Given the description of an element on the screen output the (x, y) to click on. 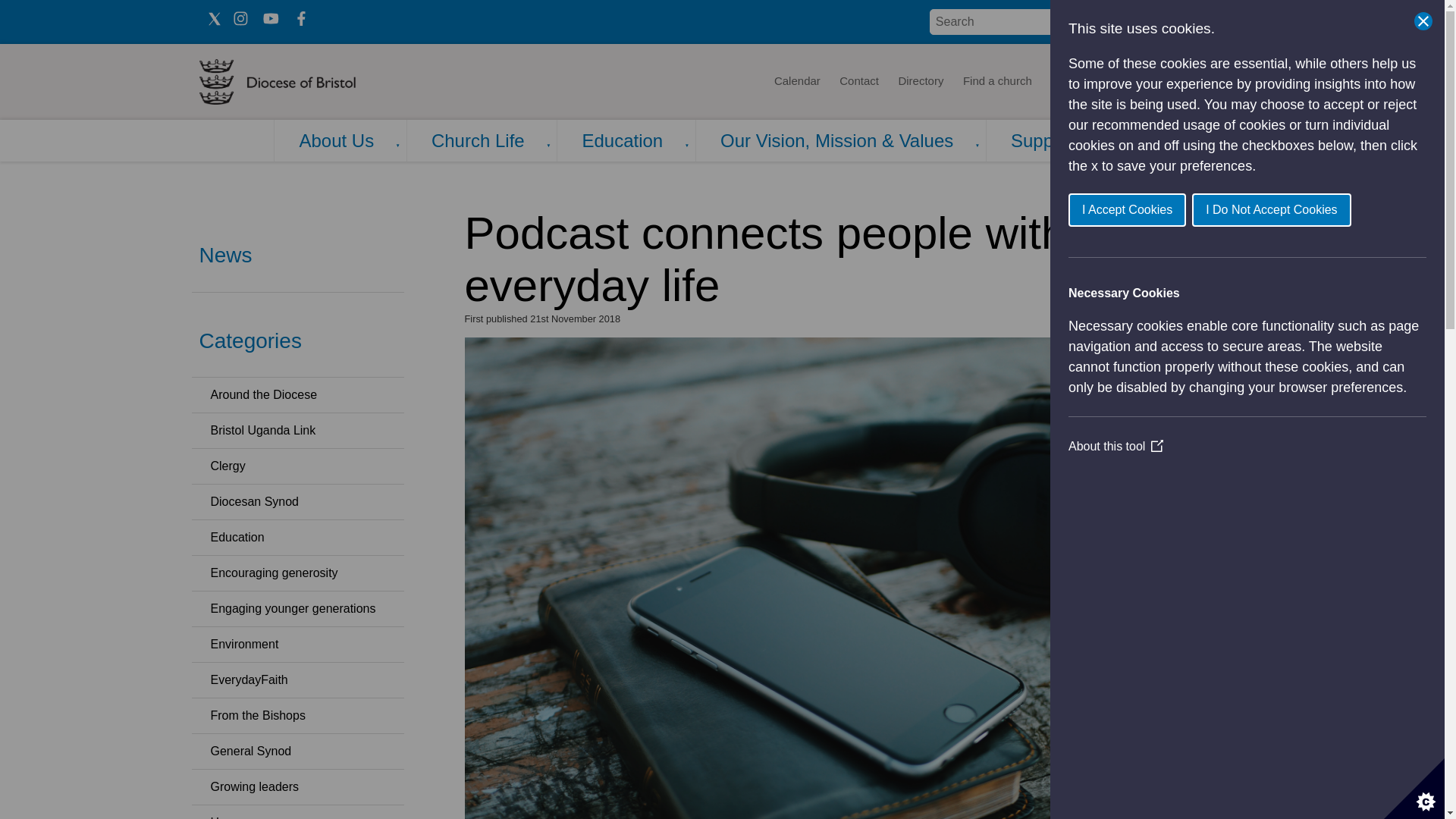
Logo (323, 81)
Find a church (997, 81)
Safeguarding (1203, 81)
Contact (858, 81)
I Accept Cookies (1325, 209)
Calendar (797, 81)
Directory (920, 81)
Vacancies (1124, 81)
